Given the description of an element on the screen output the (x, y) to click on. 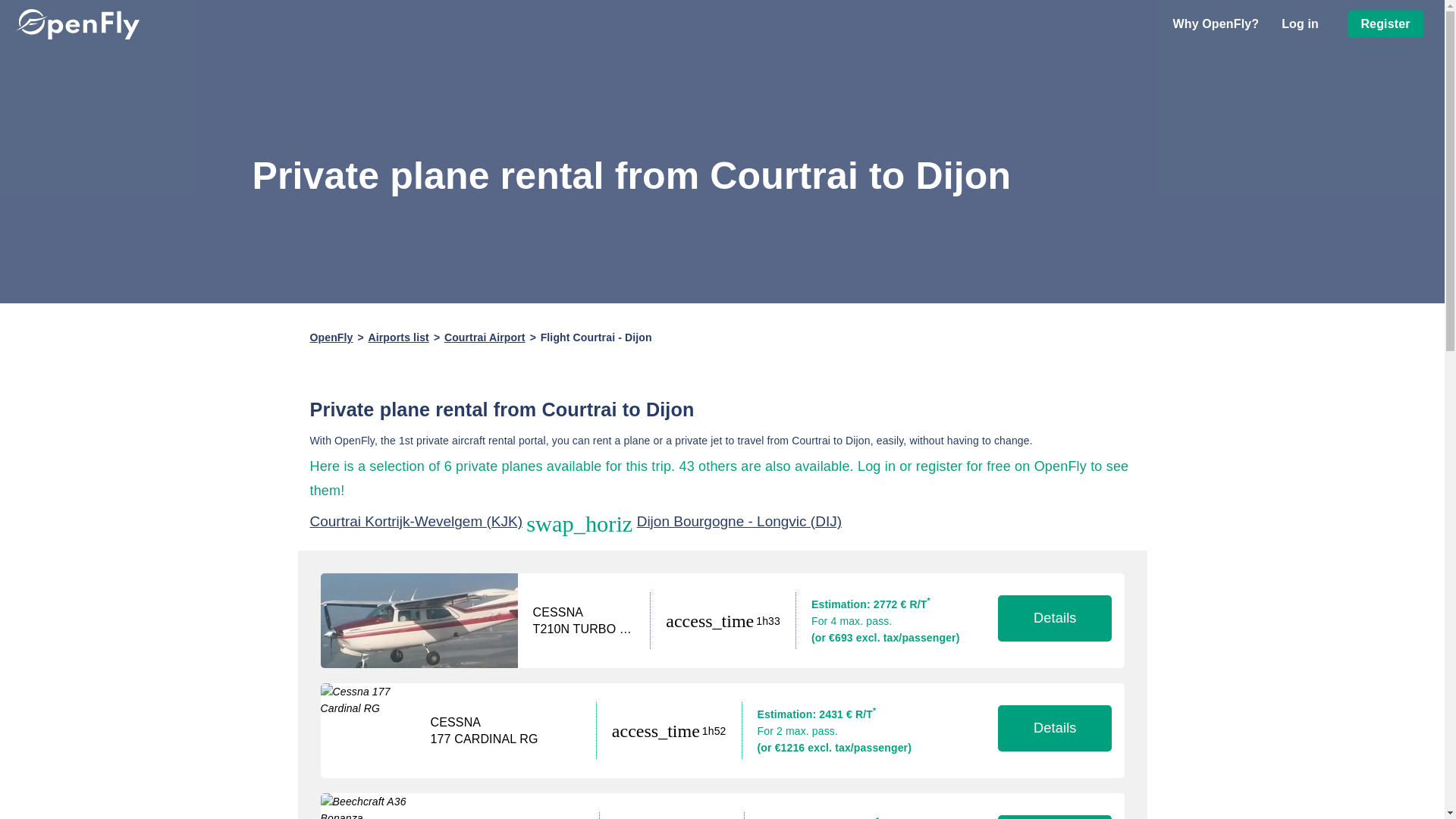
Register (1385, 23)
Log in (1300, 24)
Airports list (398, 337)
Courtrai Airport (484, 337)
Details (1054, 618)
OpenFly (330, 337)
Details (1054, 728)
Details (1054, 816)
Why OpenFly? (1215, 24)
